Given the description of an element on the screen output the (x, y) to click on. 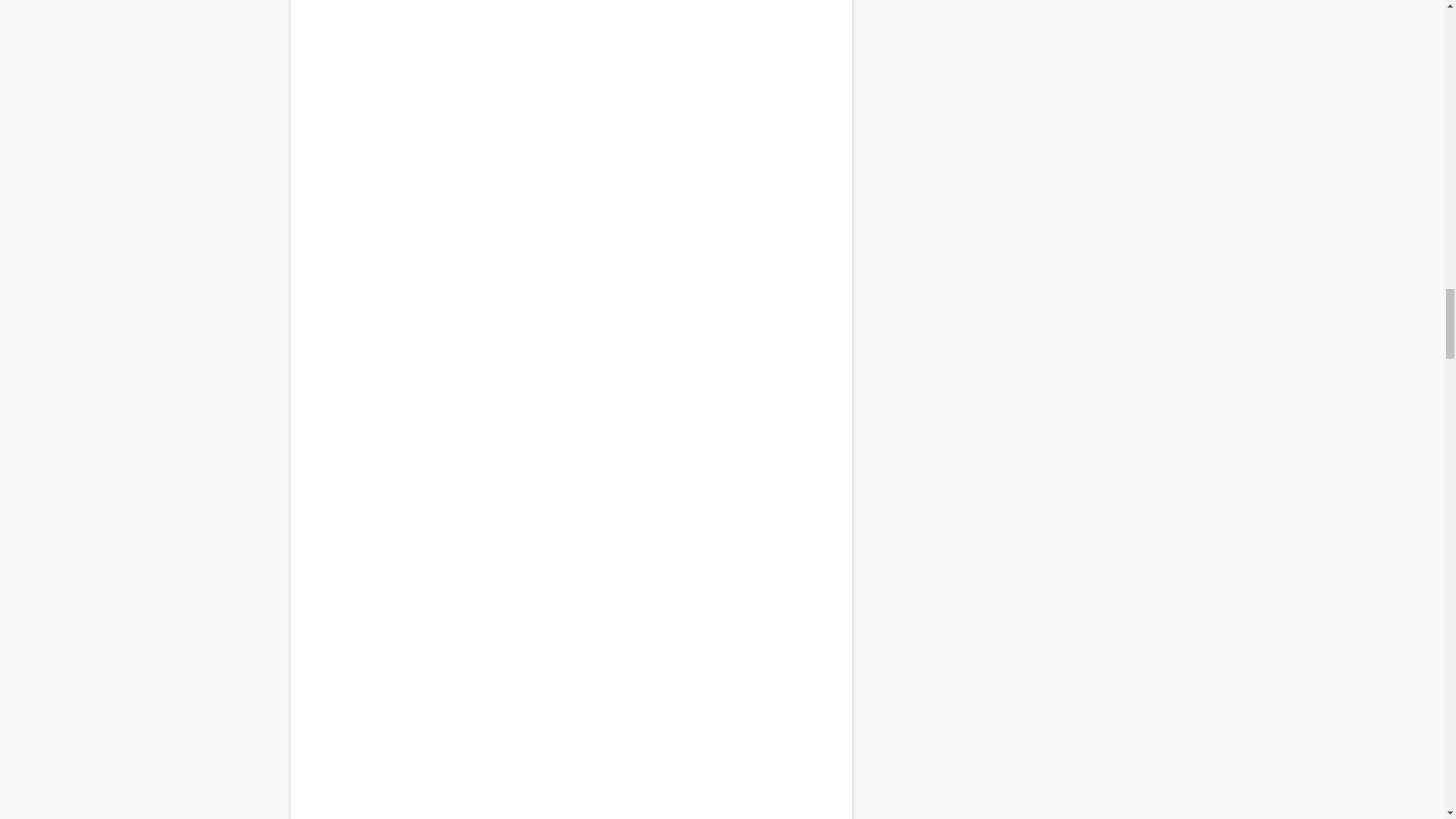
Fill in the blanks (570, 172)
Topic Wise Words (570, 736)
